Given the description of an element on the screen output the (x, y) to click on. 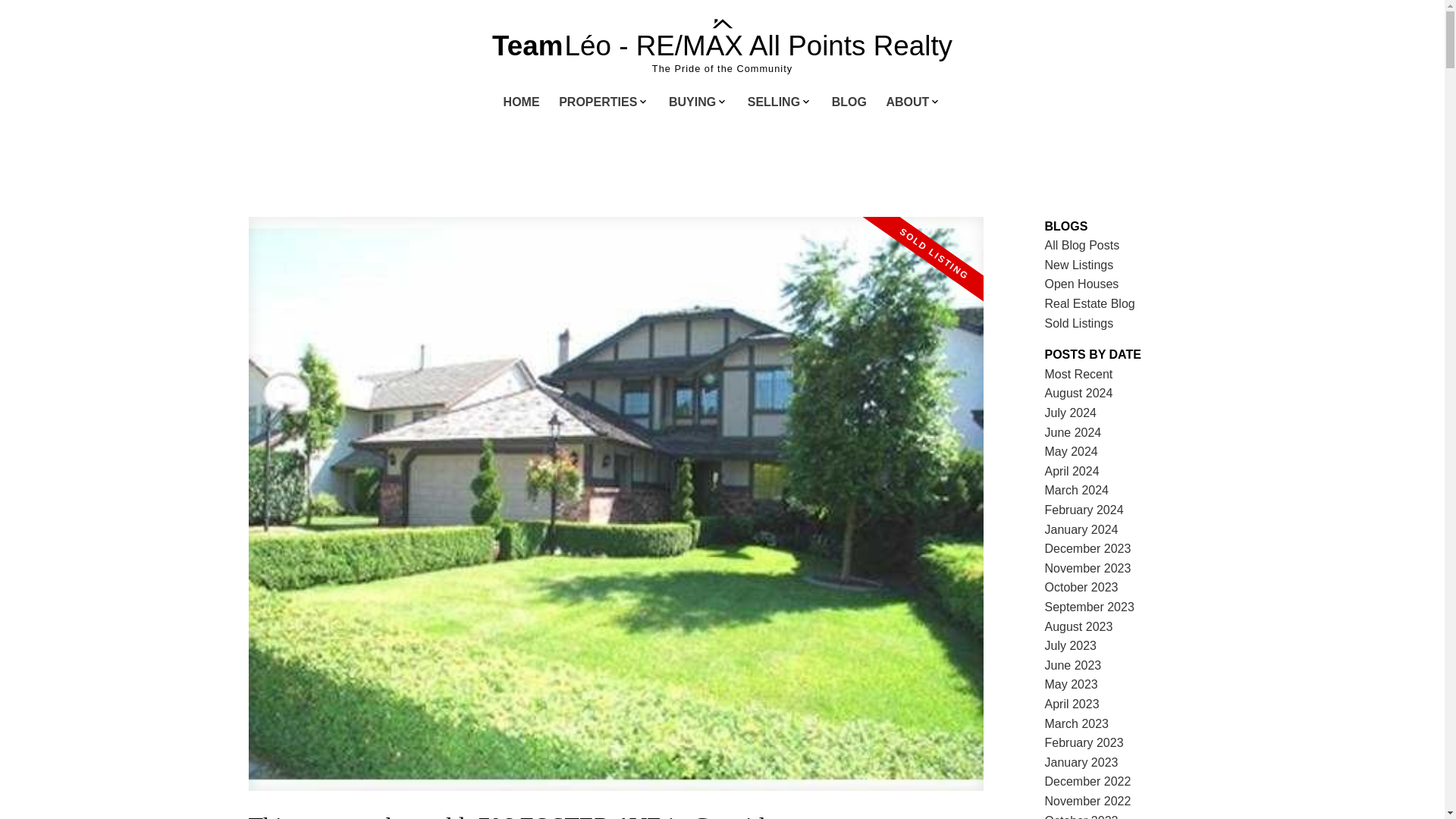
February 2024 (1084, 509)
Most Recent (1079, 373)
Open Houses (1082, 283)
June 2024 (1073, 431)
December 2023 (1088, 548)
August 2024 (1079, 392)
BLOG (848, 103)
May 2024 (1071, 451)
January 2024 (1081, 529)
All Blog Posts (1082, 245)
